Given the description of an element on the screen output the (x, y) to click on. 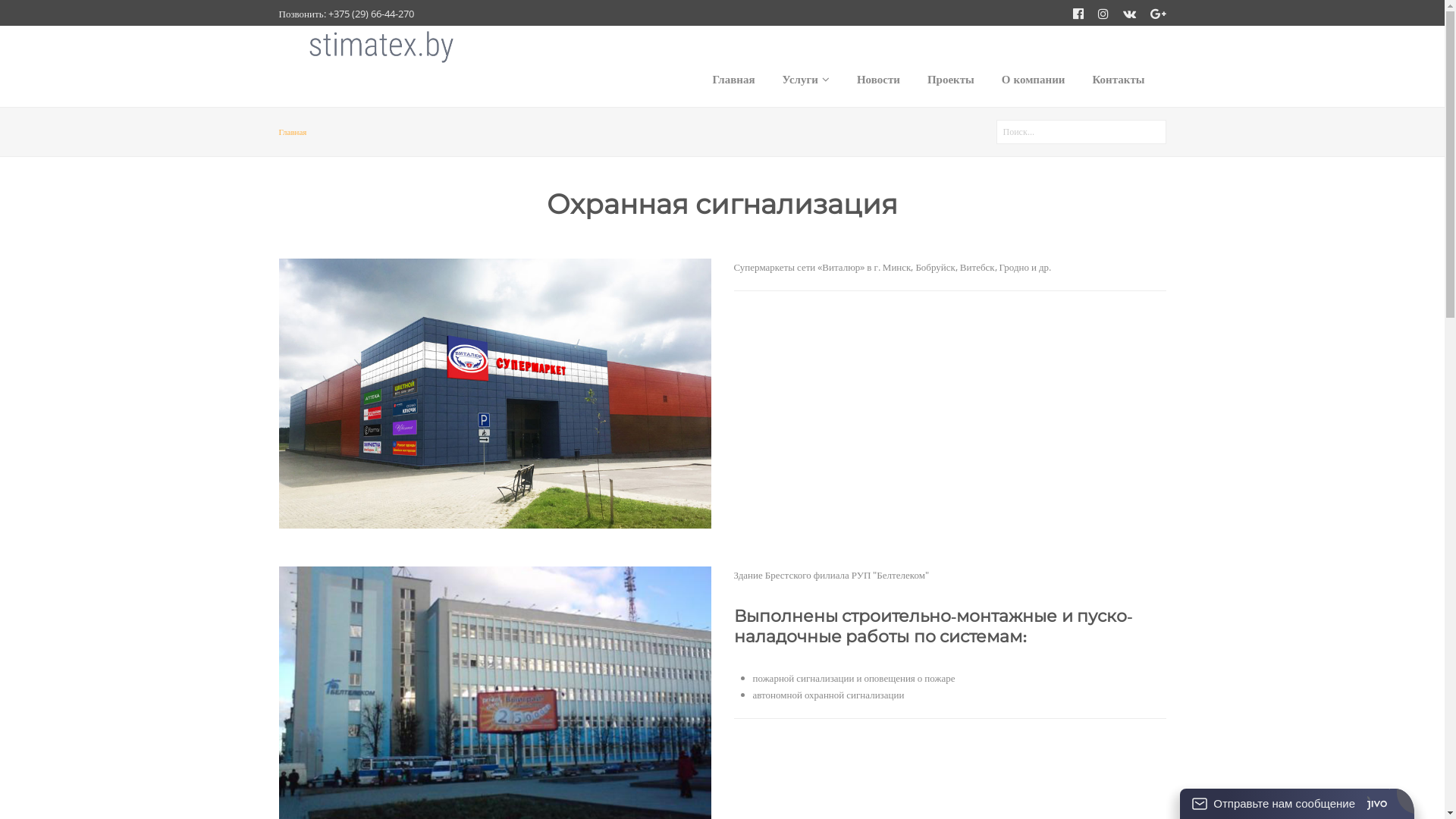
Enter the terms you wish to search for. Element type: hover (1081, 131)
